Given the description of an element on the screen output the (x, y) to click on. 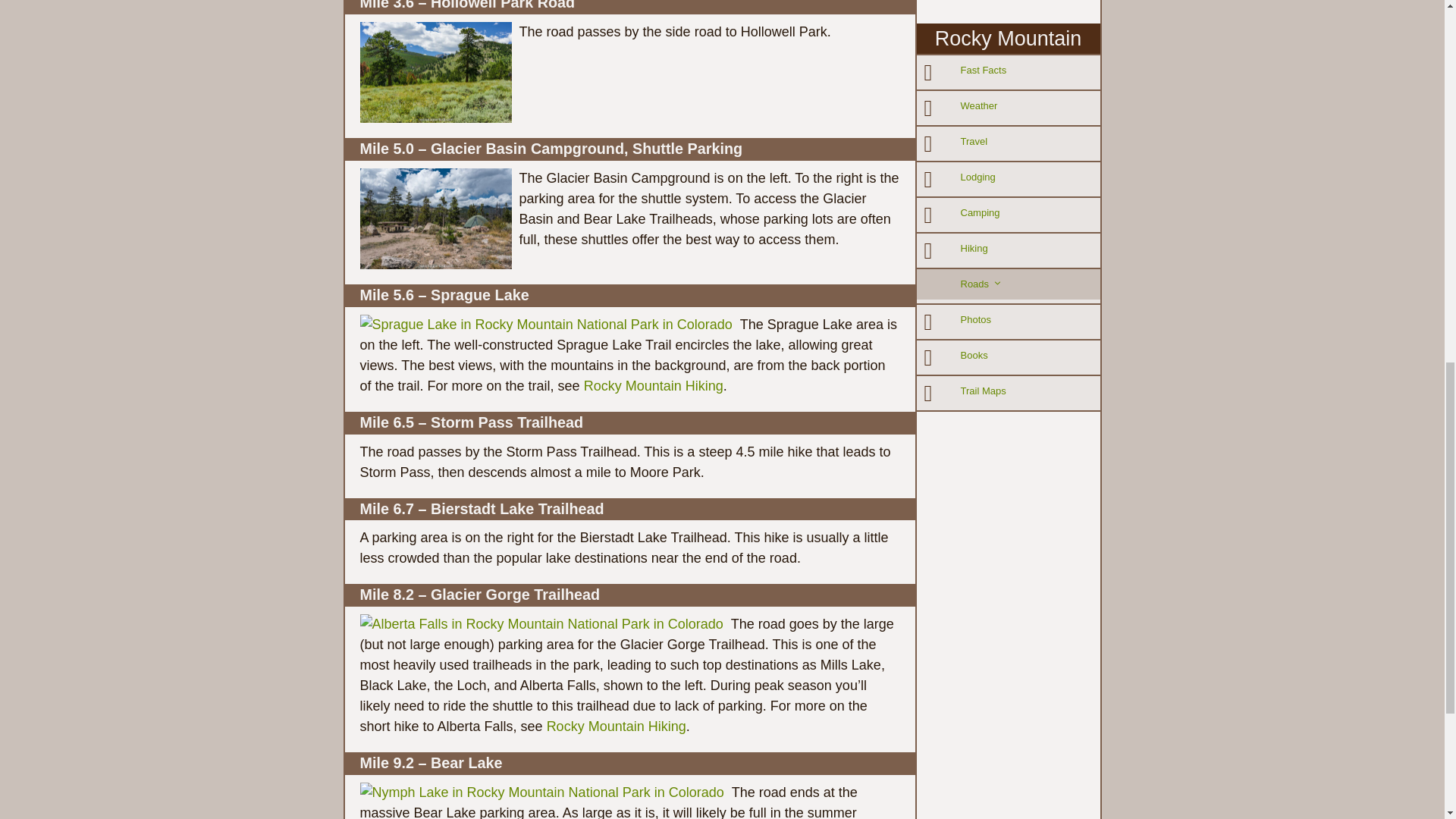
Rocky Mountain Hiking (653, 385)
Scroll back to top (1406, 720)
Rocky Mountain Hiking (616, 726)
